Given the description of an element on the screen output the (x, y) to click on. 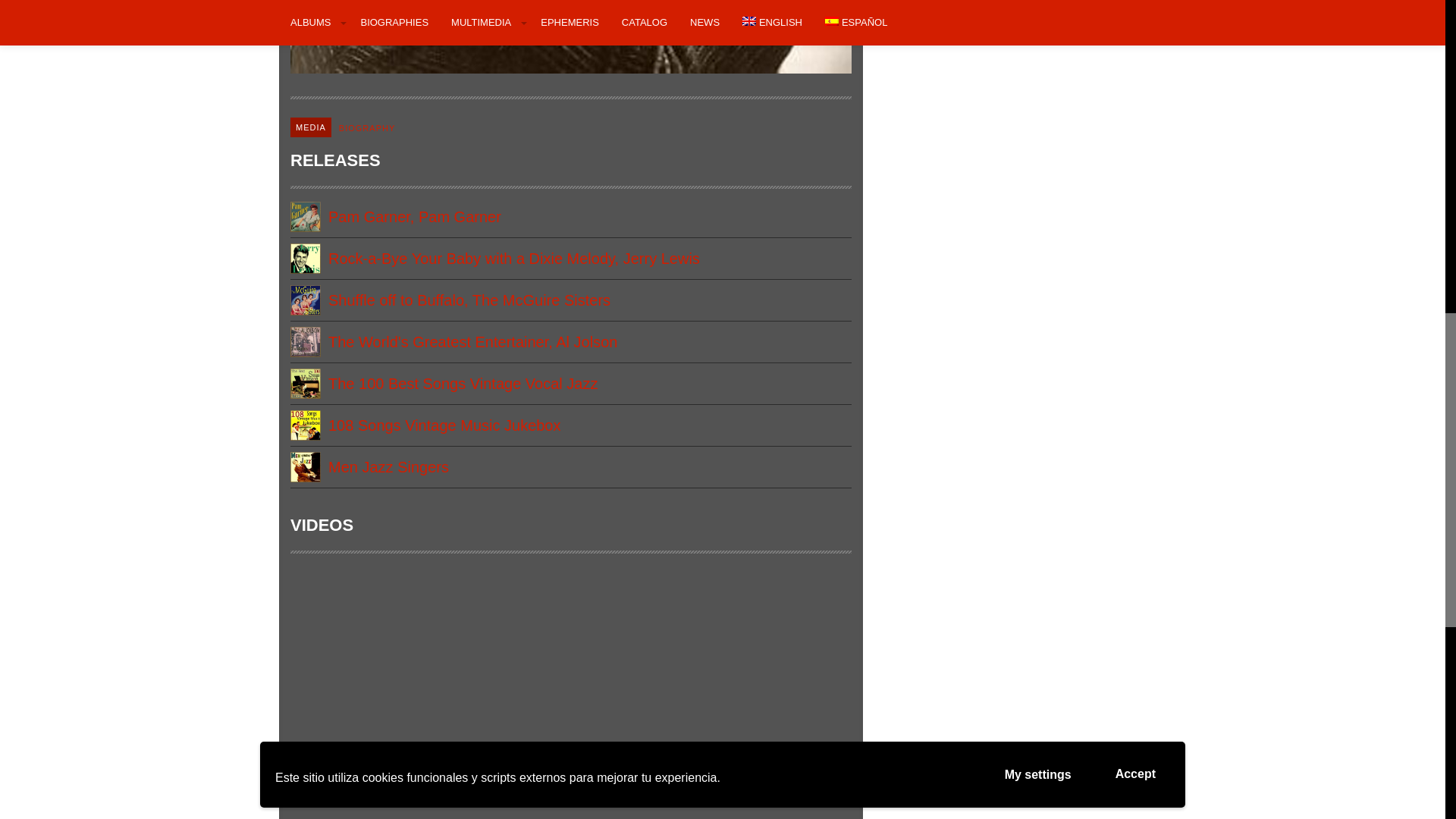
Pam Garner, Pam Garner (570, 216)
MEDIA (310, 127)
BIOGRAPHY (367, 127)
Rock-a-Bye Your Baby with a Dixie Melody, Jerry Lewis (570, 258)
Shuffle off to Buffalo, The McGuire Sisters (570, 300)
The 100 Best Songs Vintage Vocal Jazz (570, 383)
The World's Greatest Entertainer, Al Jolson (570, 341)
